Given the description of an element on the screen output the (x, y) to click on. 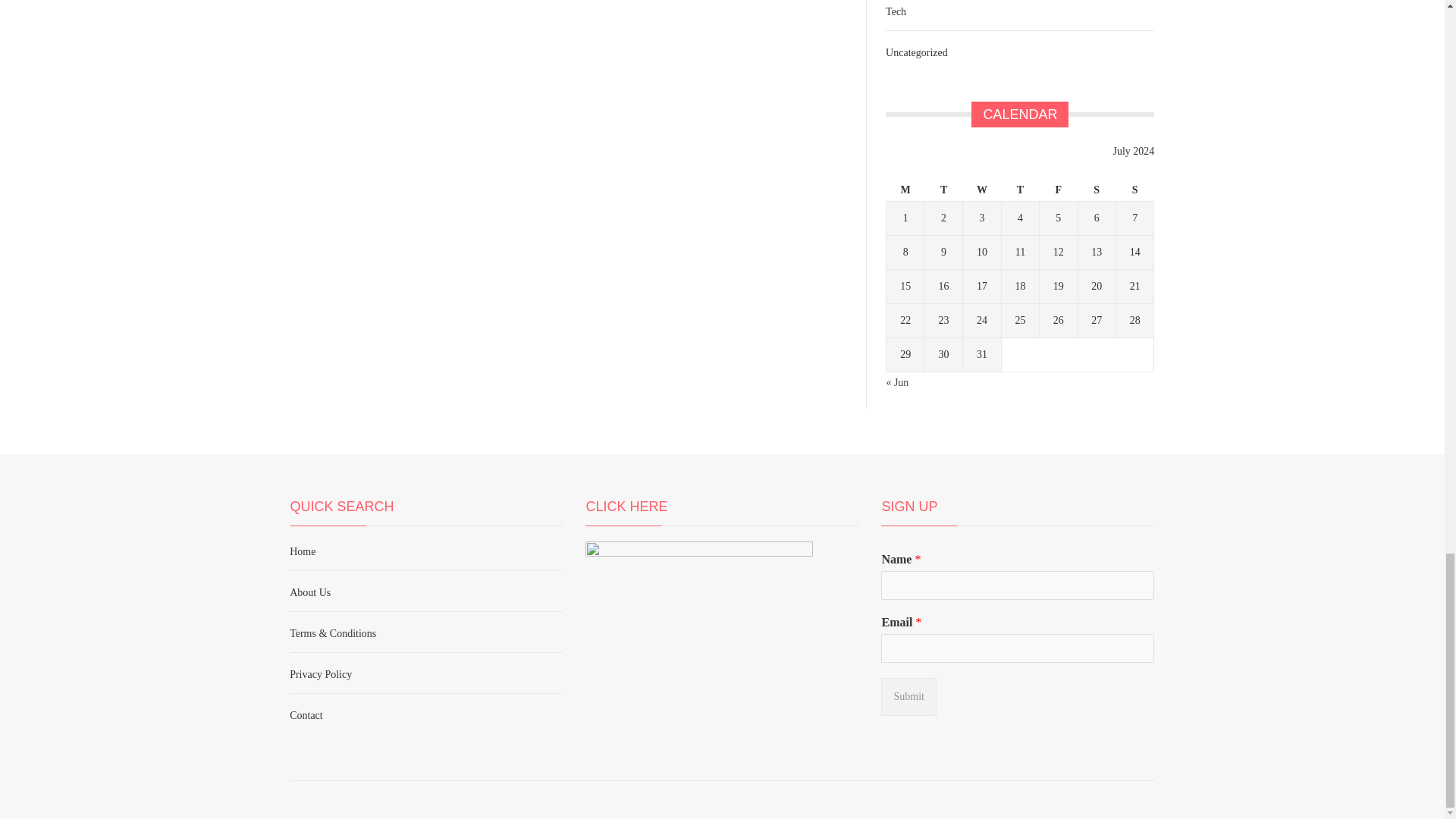
Friday (1058, 190)
Sunday (1134, 190)
Monday (905, 190)
Tuesday (943, 190)
Saturday (1096, 190)
Wednesday (981, 190)
Thursday (1020, 190)
